Given the description of an element on the screen output the (x, y) to click on. 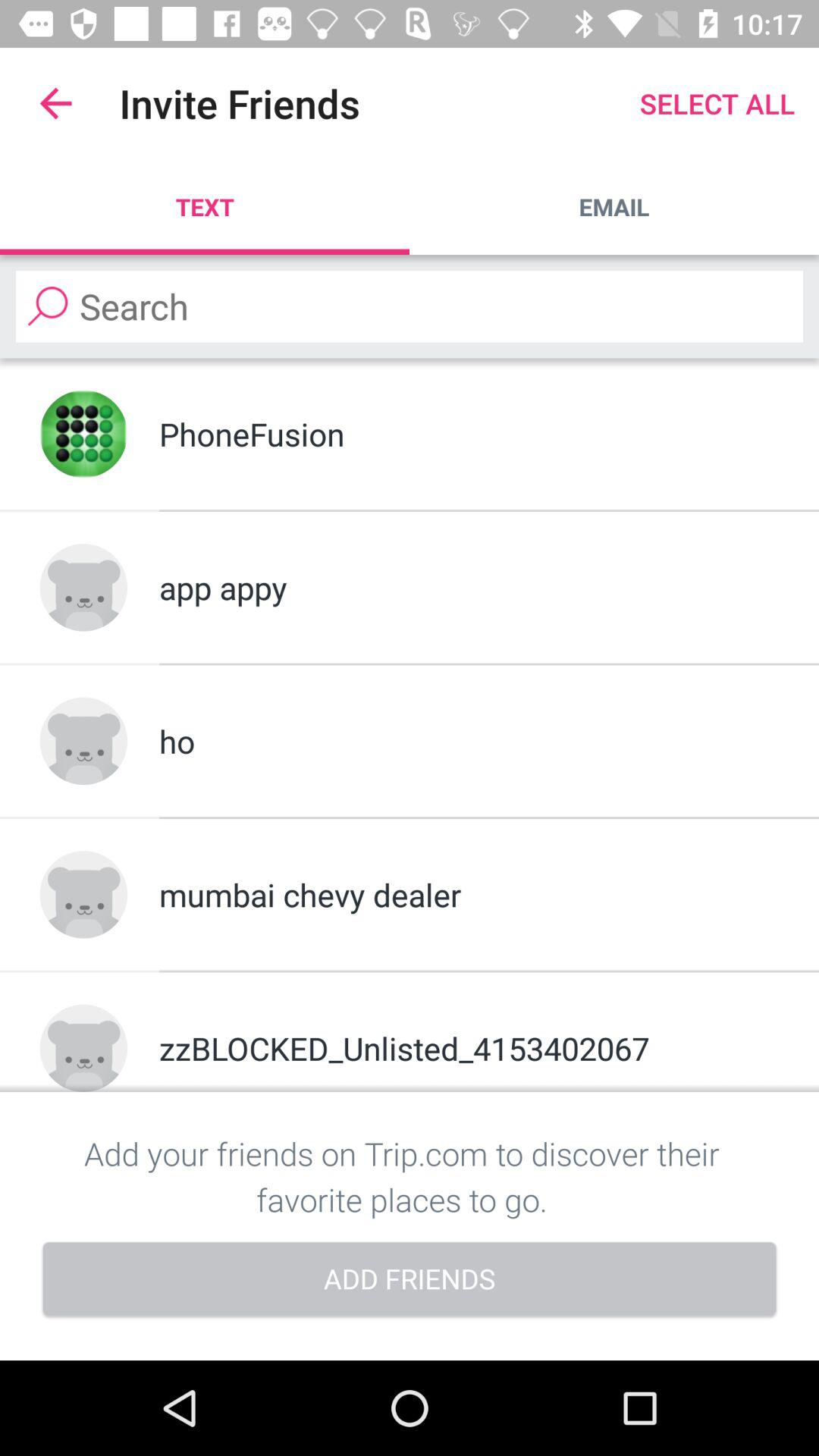
choose item to the right of the text app (614, 206)
